Given the description of an element on the screen output the (x, y) to click on. 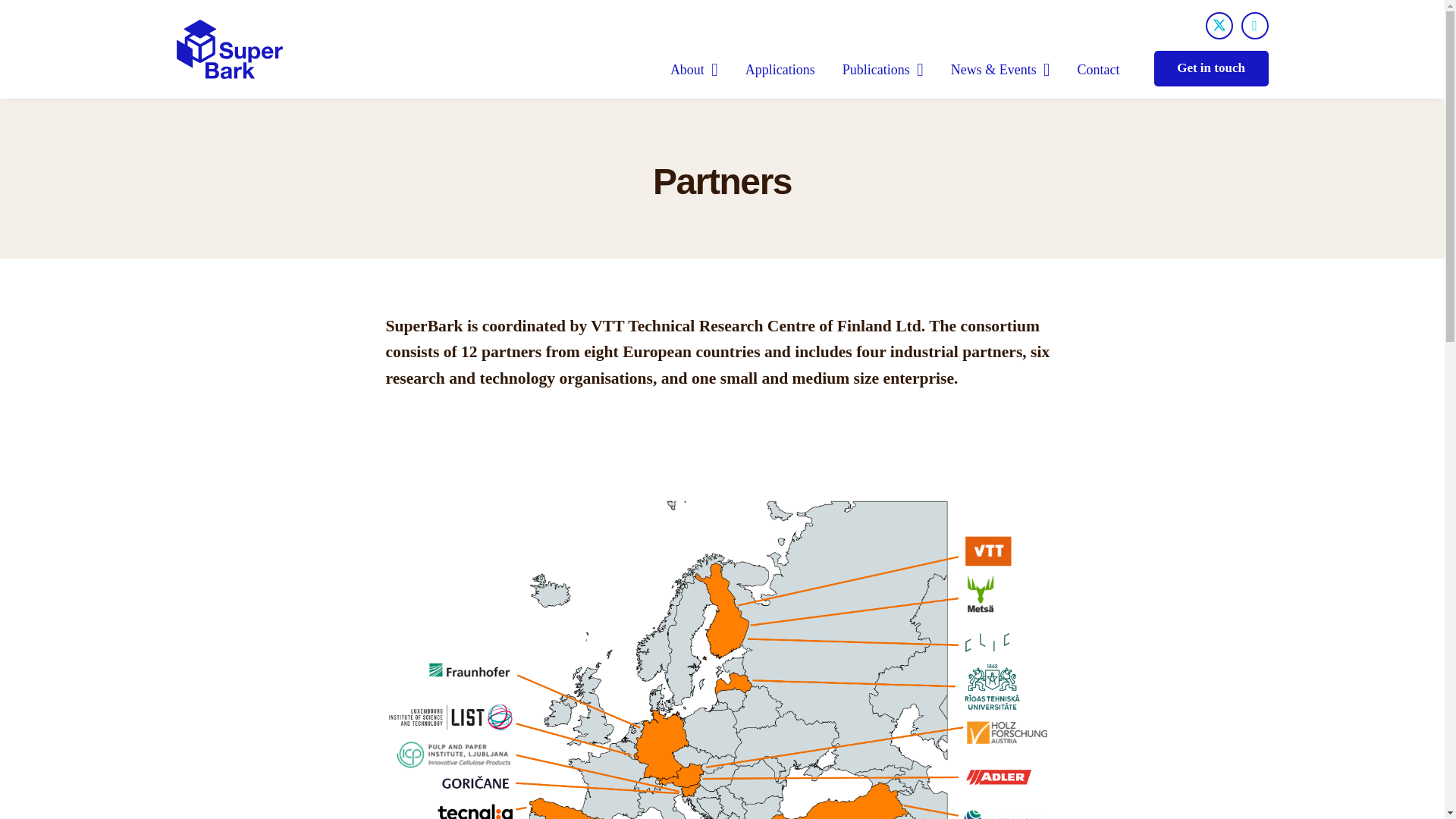
LinkedIn (1254, 25)
Twitter (1219, 25)
Publications (882, 69)
About (694, 69)
Applications (780, 69)
Contact (1099, 69)
Get in touch (1211, 68)
